Given the description of an element on the screen output the (x, y) to click on. 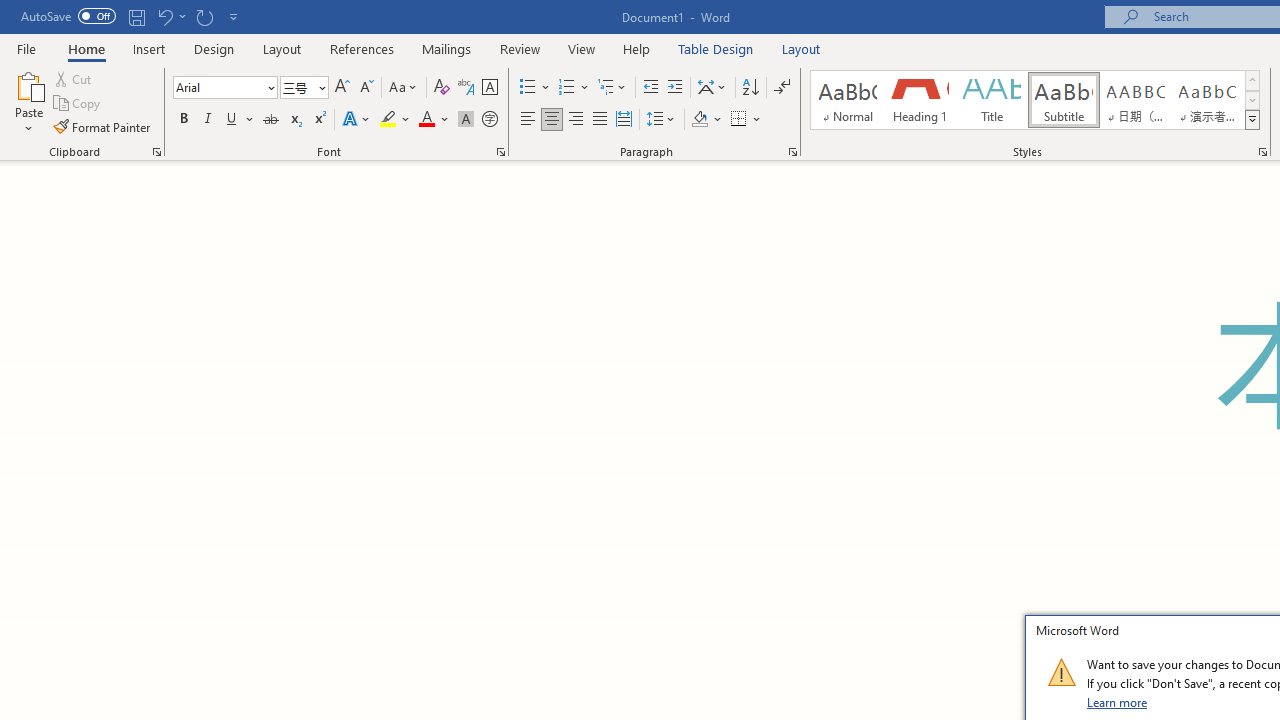
Multilevel List (613, 87)
Asian Layout (712, 87)
Line and Paragraph Spacing (661, 119)
Copy (78, 103)
Shading (706, 119)
Grow Font (342, 87)
Text Highlight Color (395, 119)
Change Case (404, 87)
Cut (73, 78)
